Given the description of an element on the screen output the (x, y) to click on. 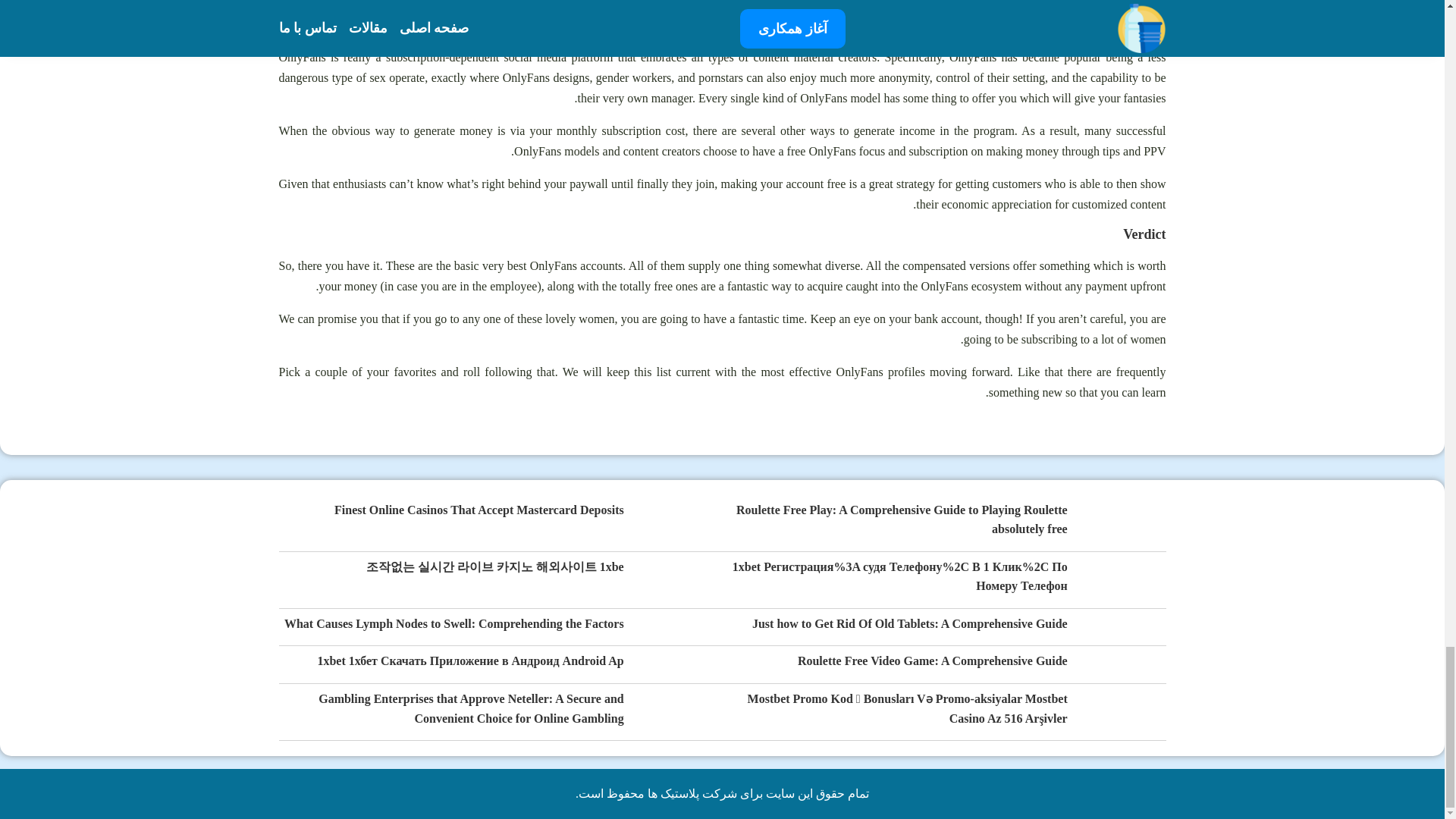
Just how to Get Rid Of Old Tablets: A Comprehensive Guide (909, 624)
Roulette Free Video Game: A Comprehensive Guide (932, 661)
What Causes Lymph Nodes to Swell: Comprehending the Factors (453, 624)
Finest Online Casinos That Accept Mastercard Deposits (479, 510)
